Given the description of an element on the screen output the (x, y) to click on. 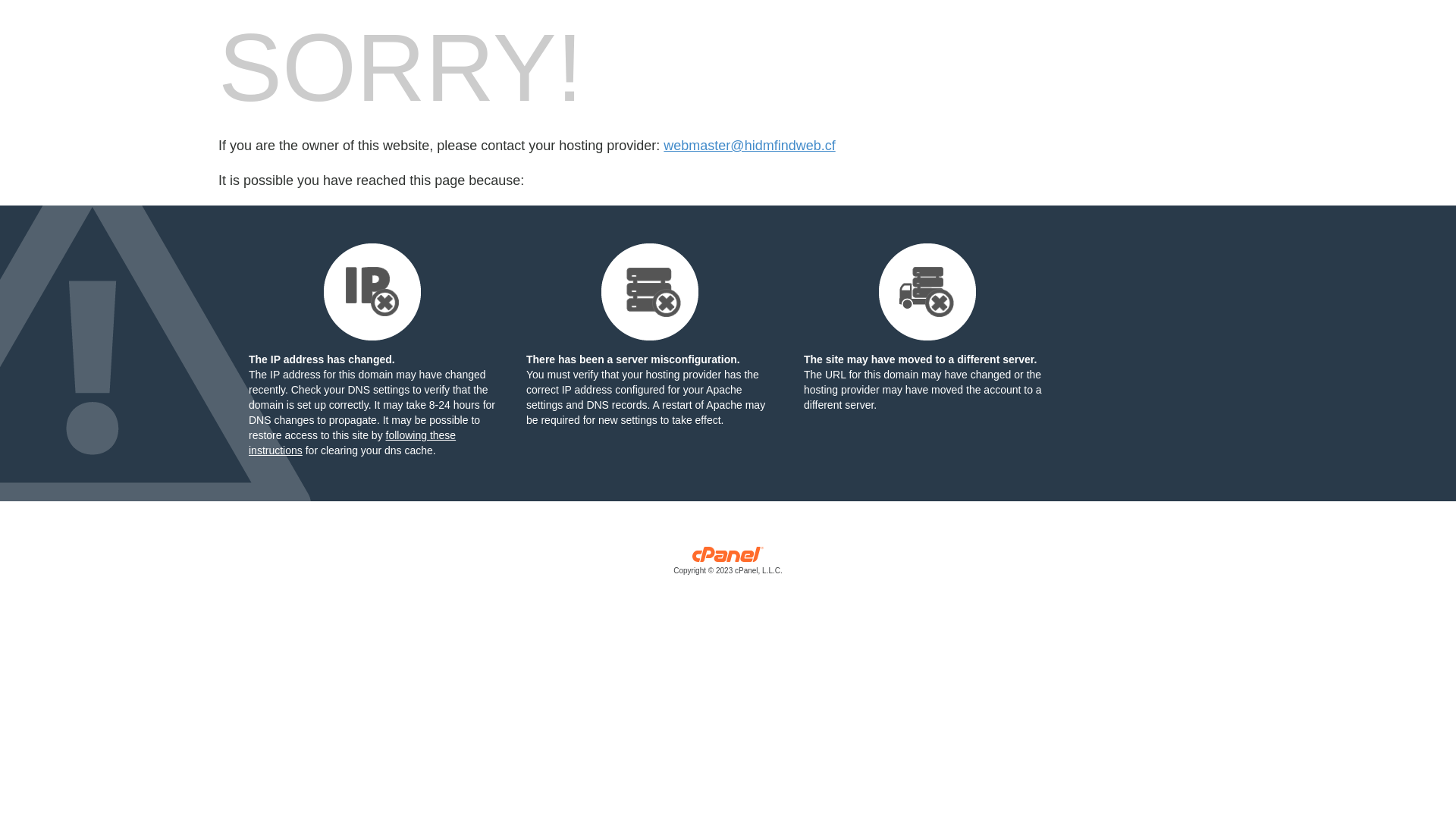
following these instructions Element type: text (351, 442)
webmaster@hidmfindweb.cf Element type: text (748, 145)
